Given the description of an element on the screen output the (x, y) to click on. 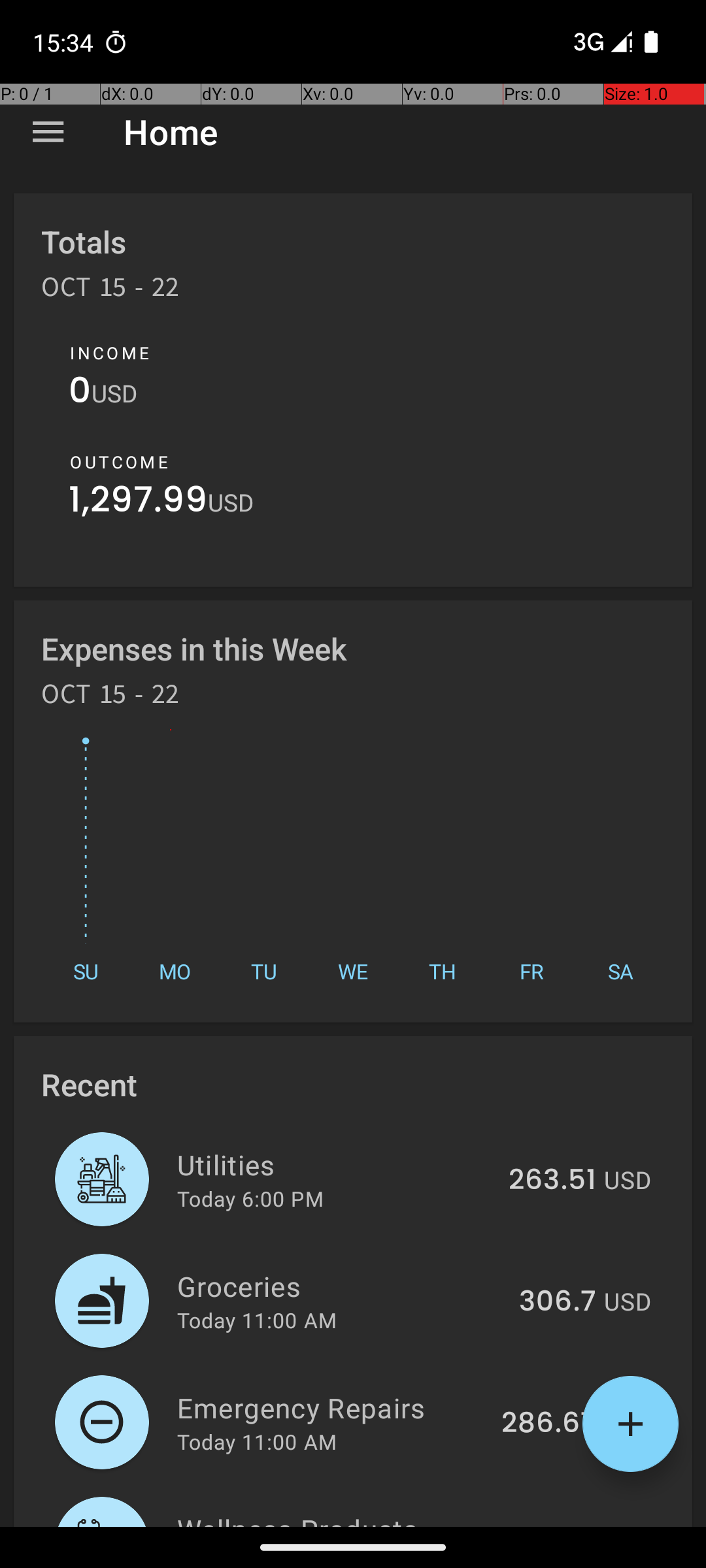
1,297.99 Element type: android.widget.TextView (137, 502)
263.51 Element type: android.widget.TextView (551, 1180)
Today 11:00 AM Element type: android.widget.TextView (256, 1320)
306.7 Element type: android.widget.TextView (557, 1301)
Emergency Repairs Element type: android.widget.TextView (331, 1407)
286.67 Element type: android.widget.TextView (548, 1423)
441.11 Element type: android.widget.TextView (558, 1524)
